Given the description of an element on the screen output the (x, y) to click on. 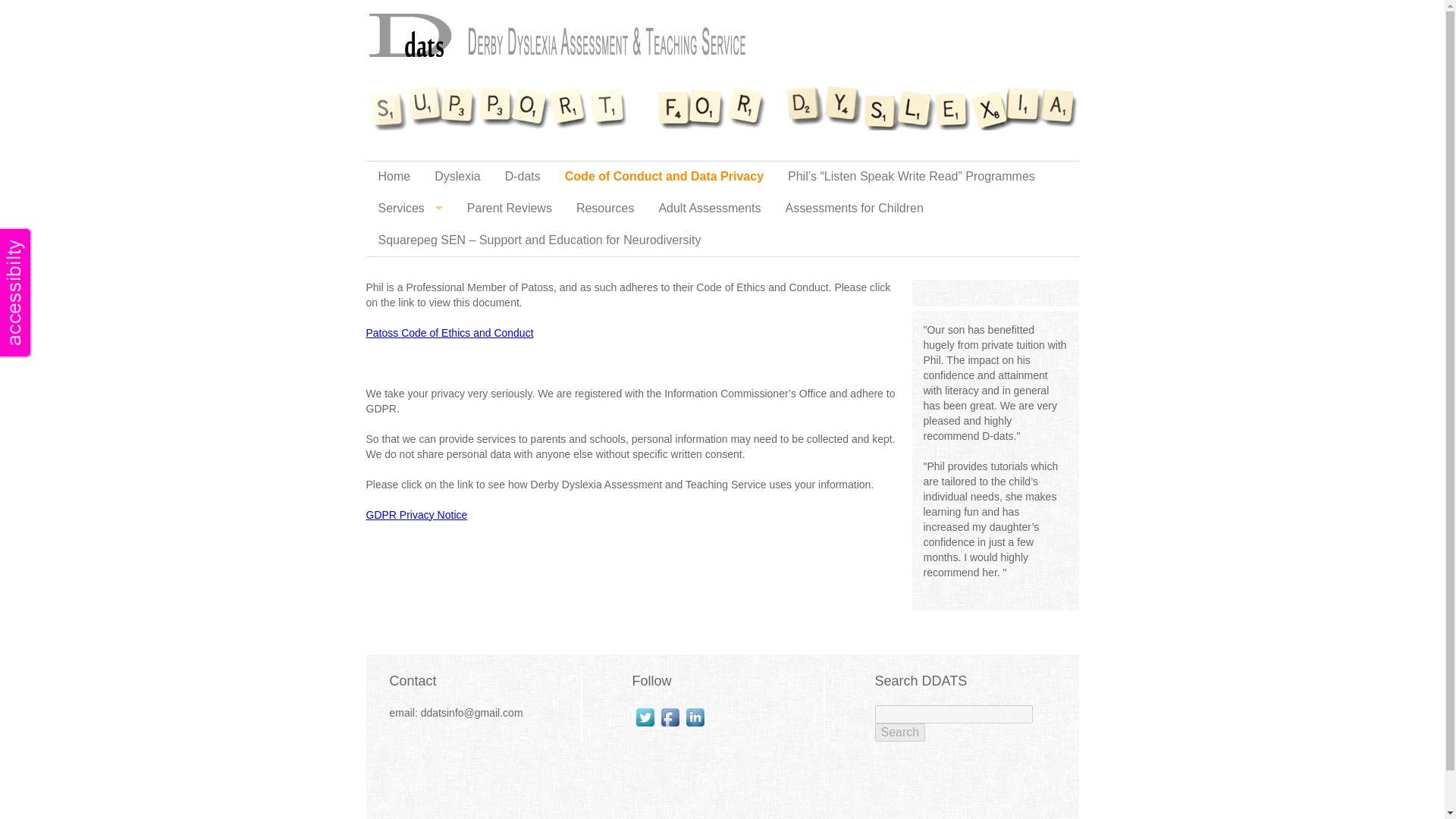
Search (900, 732)
Assessments for Children (854, 208)
Search (900, 732)
Visit Us On Facebook (668, 717)
Adult Assessments (709, 208)
Resources (605, 208)
Services (409, 208)
Home (393, 176)
Parent Reviews (509, 208)
GDPR Privacy Notice (416, 513)
Visit Us On Twitter (644, 717)
Dyslexia (457, 176)
Patoss Code of Ethics and Conduct (448, 331)
D-dats (523, 176)
Visit Us On Linkedin (694, 717)
